Given the description of an element on the screen output the (x, y) to click on. 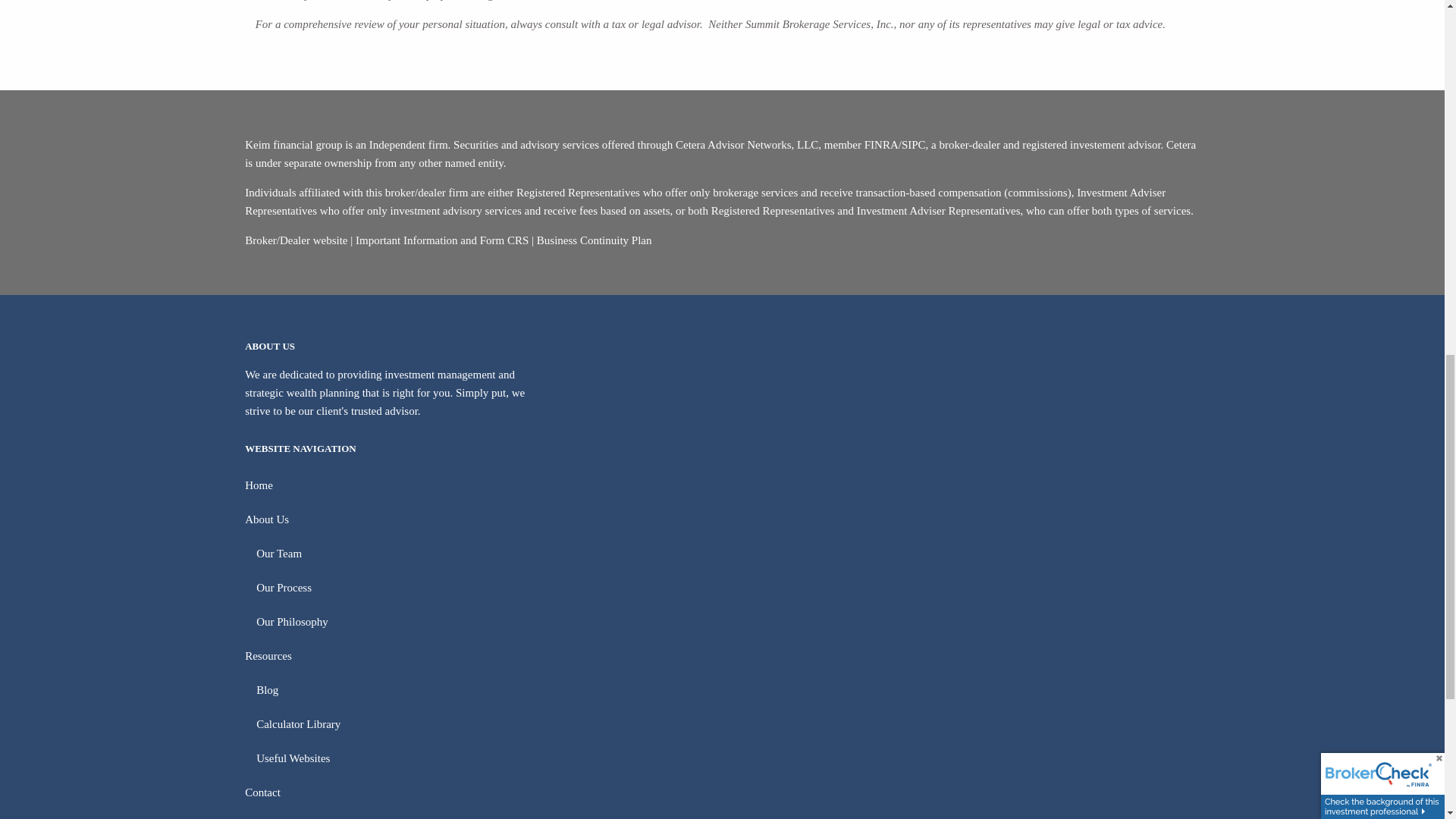
Important Information and Form CRS (441, 240)
Contact (721, 792)
Business Continuity Plan (594, 240)
About Us (721, 519)
Our Philosophy (727, 622)
Useful Websites (727, 758)
Calculator Library (727, 724)
Our Team (727, 553)
FINRA (881, 144)
Home (721, 485)
Resources (721, 656)
SIPC (913, 144)
Blog (727, 690)
Our Process (727, 587)
